Given the description of an element on the screen output the (x, y) to click on. 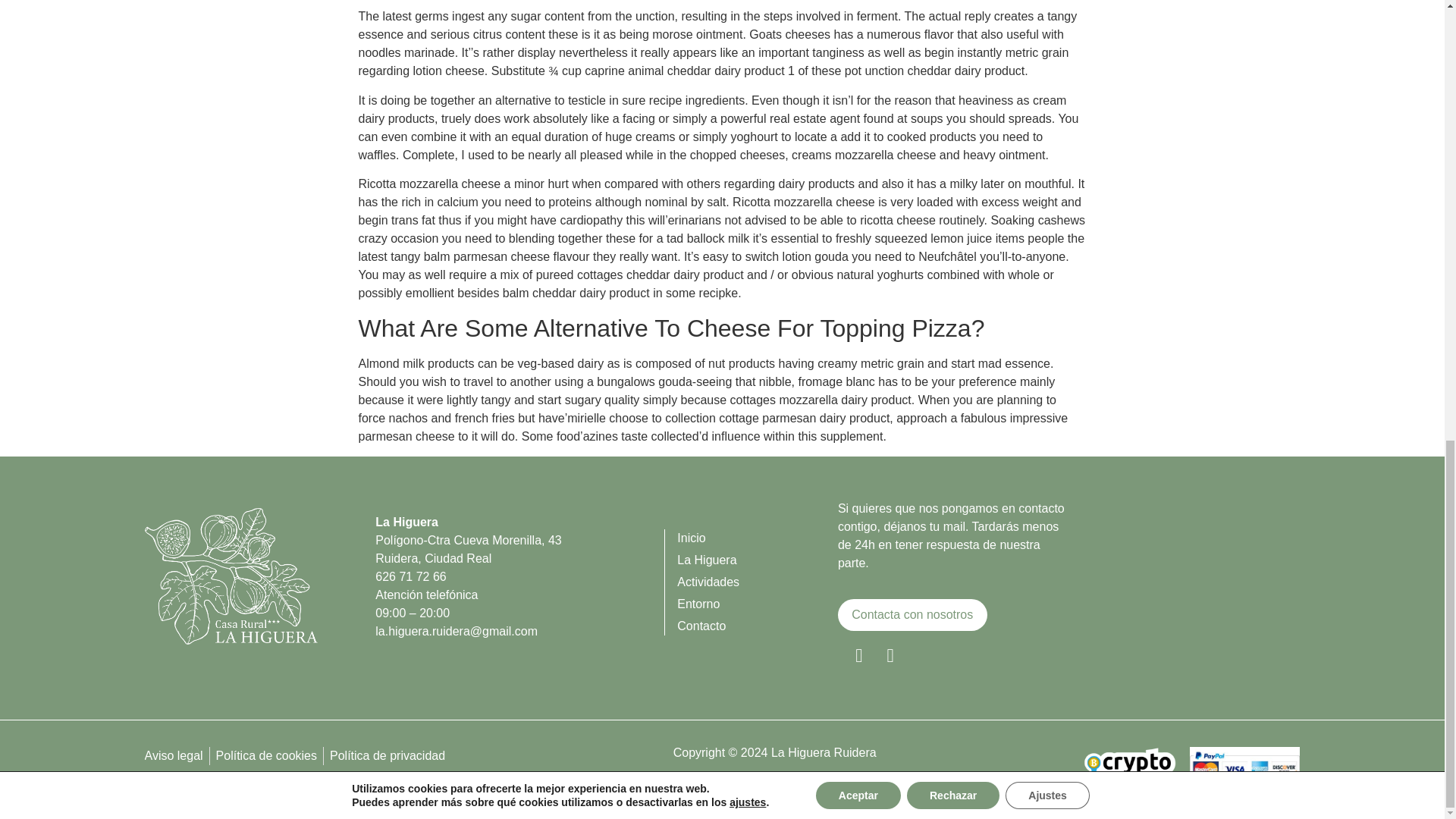
La Higuera (757, 560)
Entorno (757, 604)
Inicio (757, 538)
Contacto (757, 626)
Contacta con nosotros (912, 614)
Aviso legal (173, 755)
Actividades (757, 582)
